Given the description of an element on the screen output the (x, y) to click on. 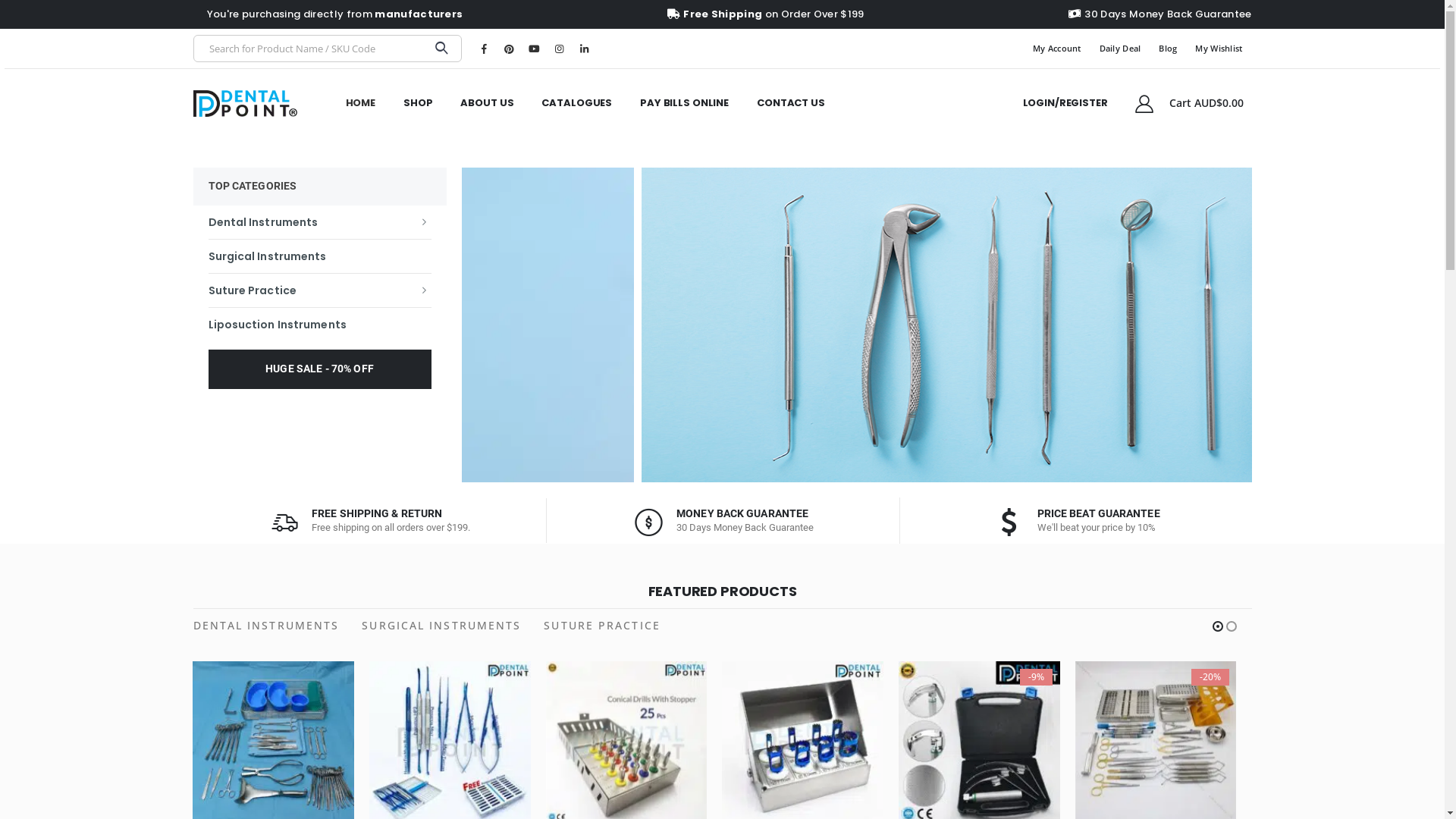
DENTAL INSTRUMENTS Element type: text (265, 626)
HOME Element type: text (360, 102)
Surgical Instruments Element type: text (318, 255)
My Wishlist Element type: text (1218, 48)
Facebook Element type: hover (483, 48)
CONTACT US Element type: text (790, 102)
SHOP Element type: text (417, 102)
Blog Element type: text (1167, 48)
Search Element type: hover (441, 48)
Suture Practice Element type: text (318, 289)
HUGE SALE - 70% OFF Element type: text (318, 369)
SURGICAL INSTRUMENTS Element type: text (440, 626)
Daily Deal Element type: text (1120, 48)
LOGIN/REGISTER Element type: text (1065, 102)
SUTURE PRACTICE Element type: text (601, 626)
Youtube Element type: hover (533, 48)
LOGIN Element type: text (897, 253)
Instagram Element type: hover (558, 48)
Liposuction Instruments Element type: text (318, 323)
CATALOGUES Element type: text (576, 102)
PAY BILLS ONLINE Element type: text (684, 102)
My Account Element type: text (1056, 48)
Dental Instruments Element type: text (318, 221)
My Account Element type: hover (1144, 103)
LinkedIn Element type: hover (583, 48)
ABOUT US Element type: text (486, 102)
Pinterest Element type: hover (508, 48)
